Given the description of an element on the screen output the (x, y) to click on. 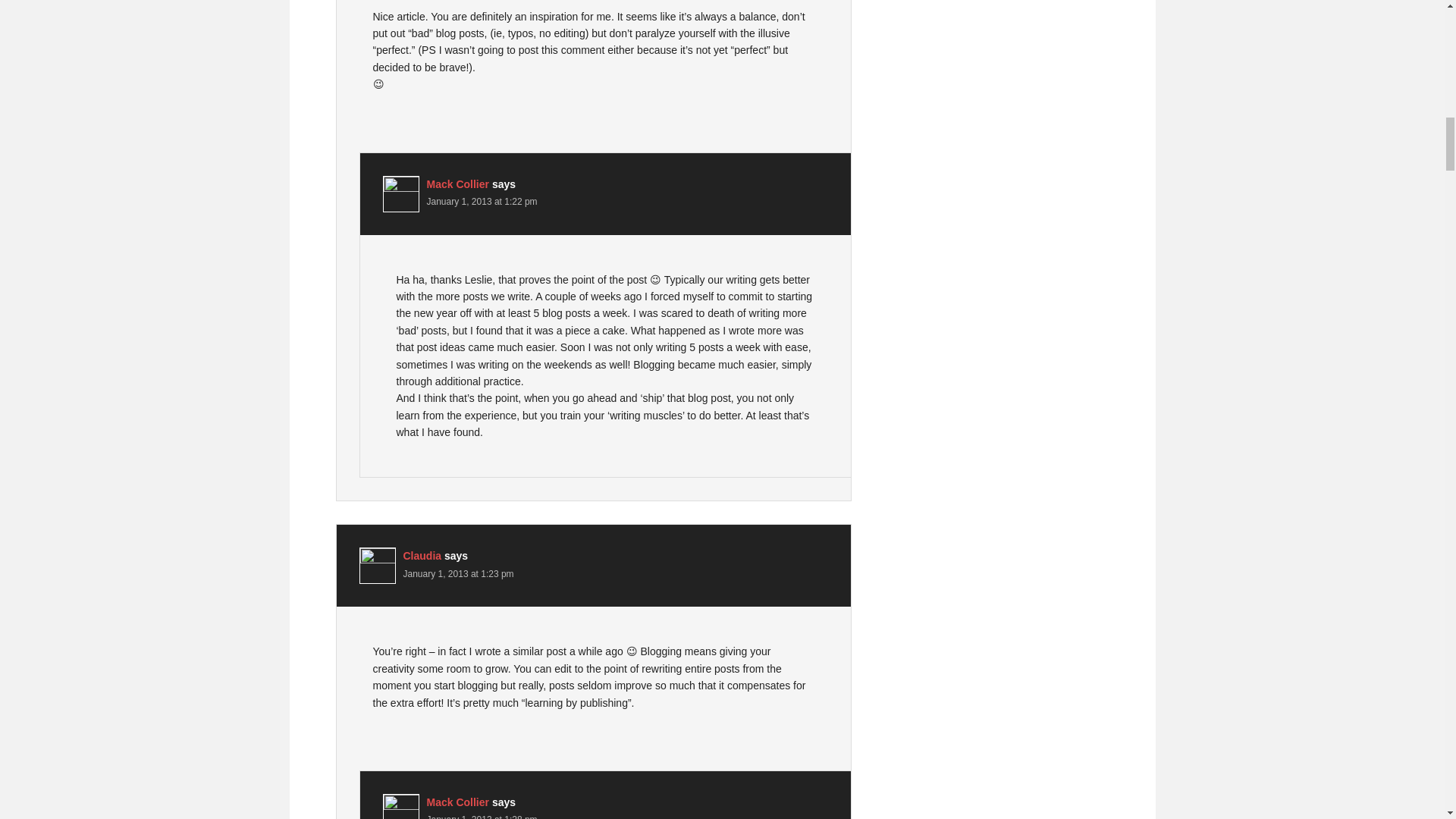
January 1, 2013 at 1:23 pm (458, 573)
January 1, 2013 at 1:22 pm (481, 201)
January 1, 2013 at 1:28 pm (481, 816)
Claudia (422, 555)
Mack Collier (456, 802)
Mack Collier (456, 184)
